Given the description of an element on the screen output the (x, y) to click on. 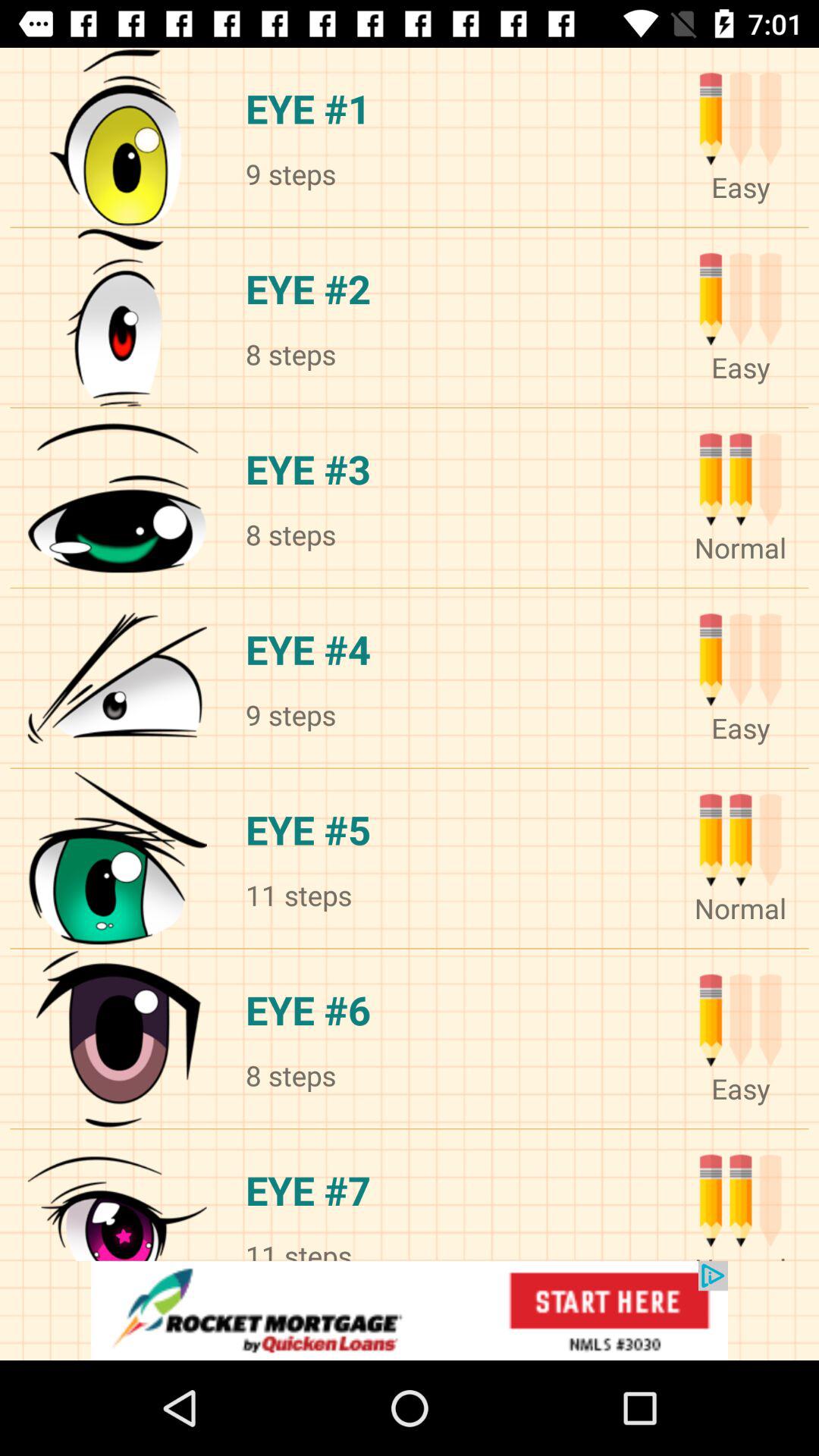
advertisement (409, 1310)
